Given the description of an element on the screen output the (x, y) to click on. 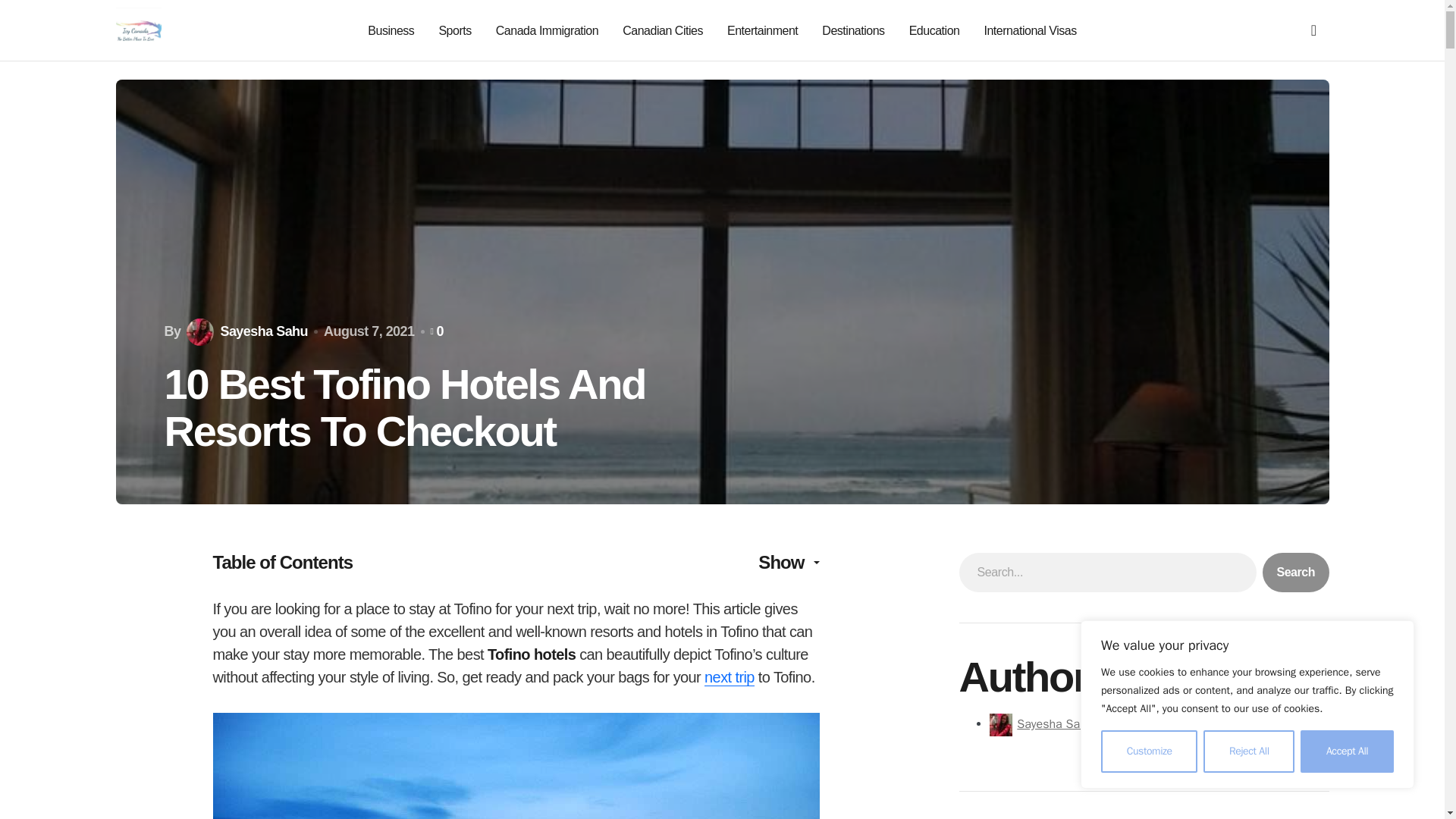
Sports (454, 30)
Sayesha Sahu (1054, 724)
Customize (1148, 751)
Canada Immigration (547, 30)
Destinations (852, 30)
Accept All (1346, 751)
Entertainment (761, 30)
Reject All (1249, 751)
Canadian Cities (663, 30)
Education (933, 30)
Business (390, 30)
International Visas (1029, 30)
